Given the description of an element on the screen output the (x, y) to click on. 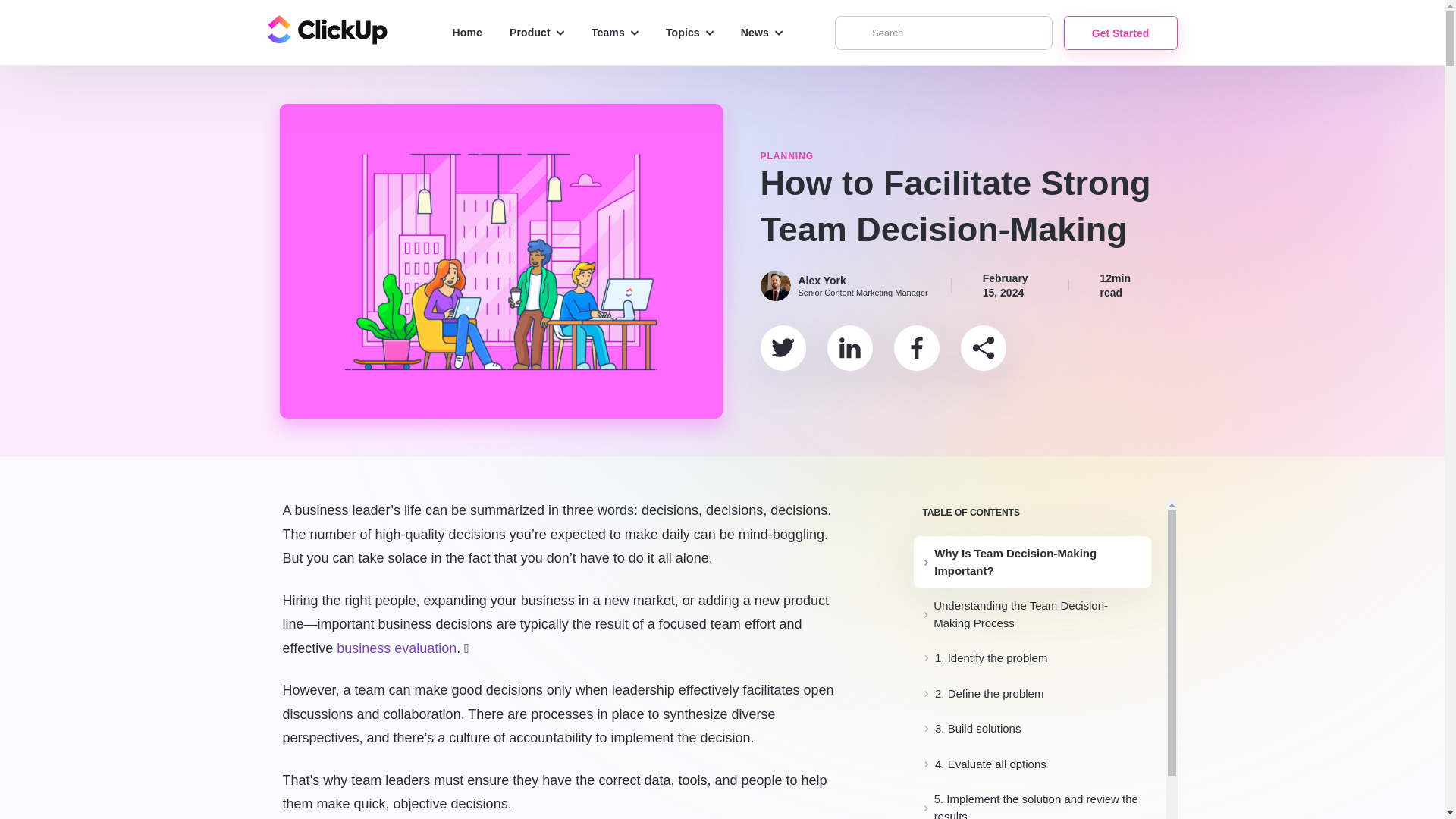
News (761, 32)
Product (537, 32)
Teams (615, 32)
Topics (689, 32)
ClickUp Blog (326, 32)
Home (466, 32)
